Given the description of an element on the screen output the (x, y) to click on. 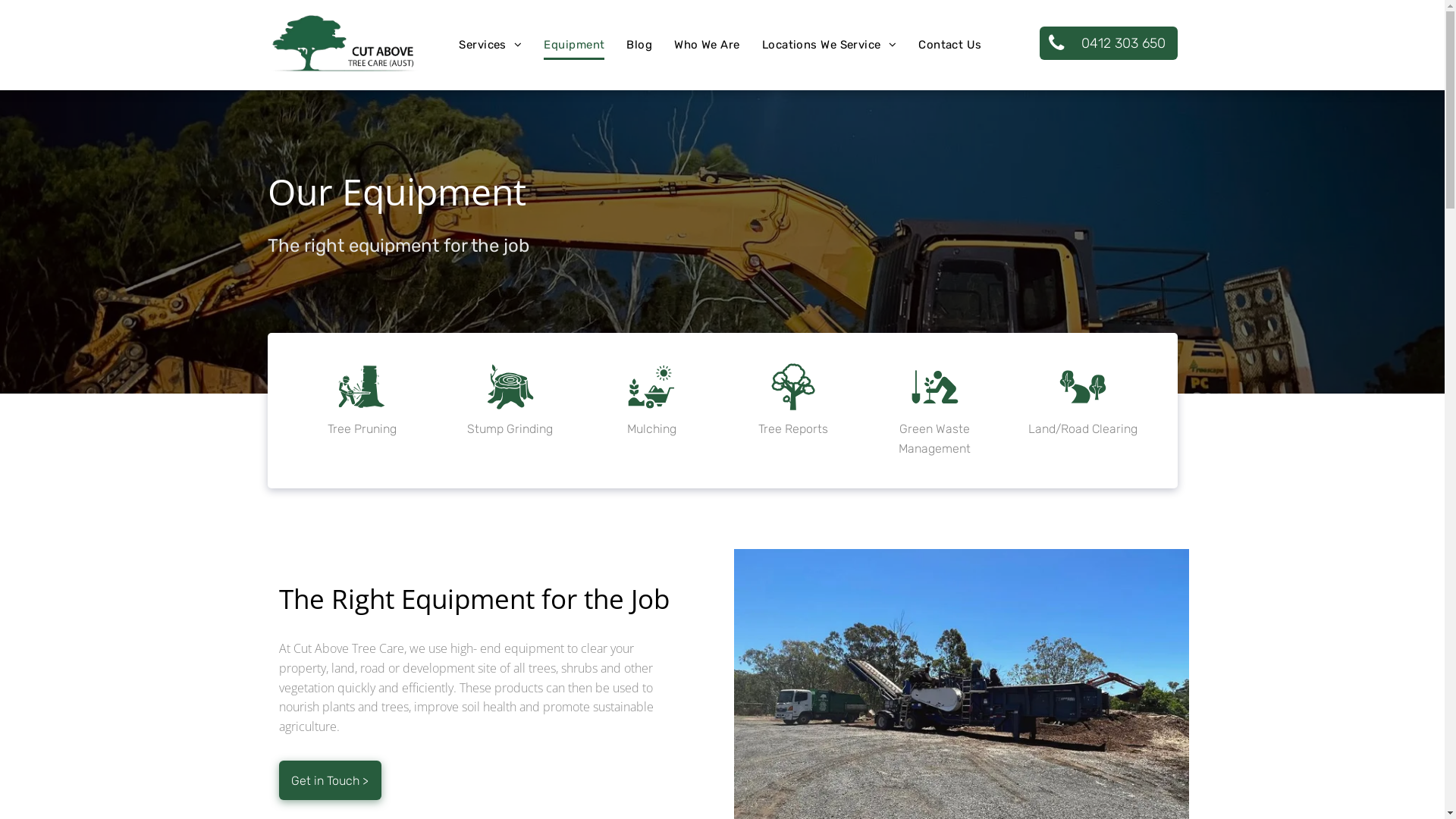
Services Element type: text (489, 45)
tree plants icon Element type: hover (934, 386)
tree icon Element type: hover (792, 386)
stump icon Element type: hover (509, 386)
Tree lopping icon Element type: hover (361, 386)
Blog Element type: text (639, 45)
Who We Are Element type: text (707, 45)
Locations We Service Element type: text (829, 45)
0412 303 650 Element type: text (1107, 42)
mulching icon Element type: hover (651, 386)
road clearing icon Element type: hover (1082, 386)
Get in Touch > Element type: text (330, 780)
Equipment Element type: text (573, 45)
Contact Us Element type: text (950, 45)
